Given the description of an element on the screen output the (x, y) to click on. 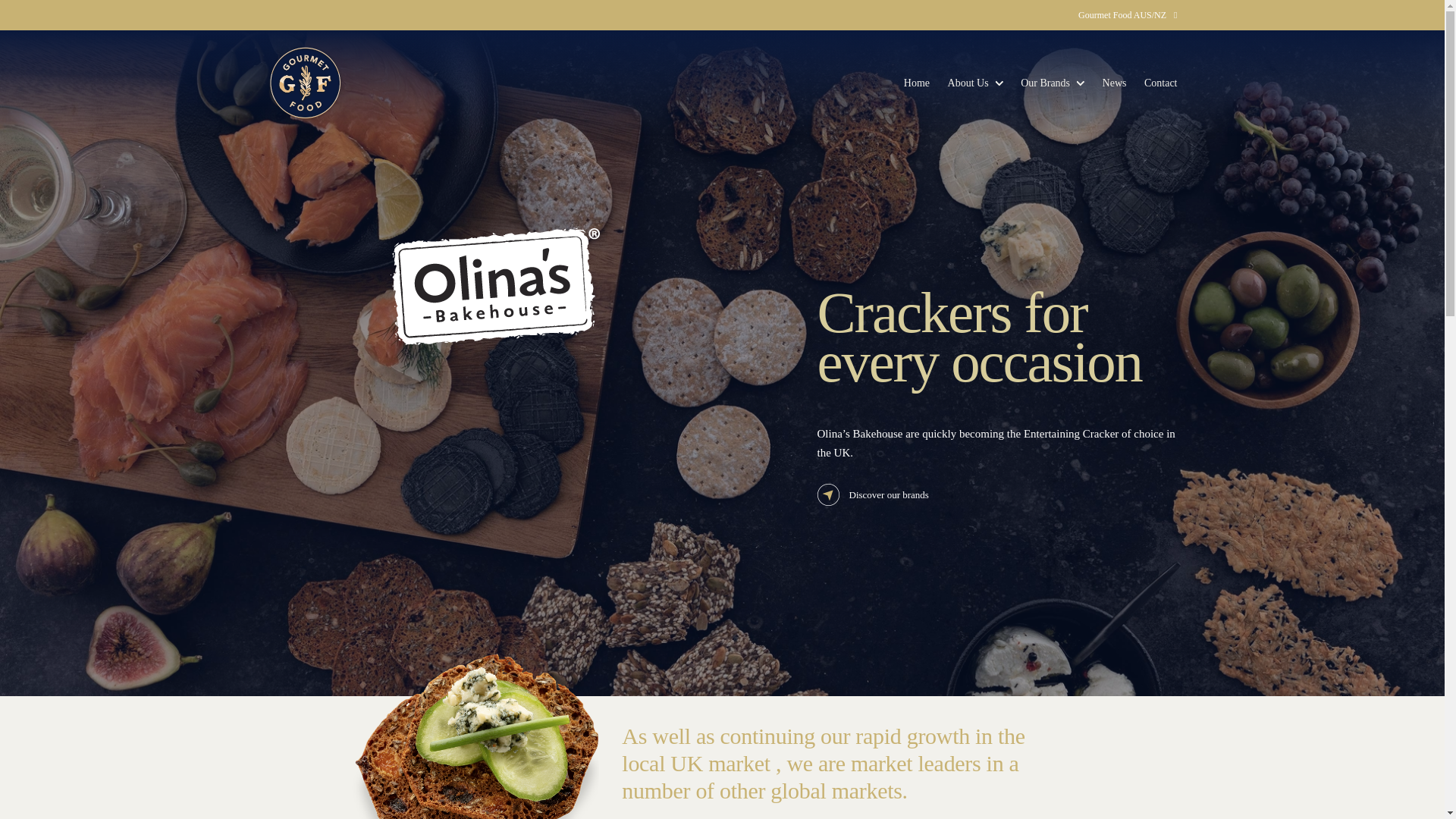
Gourmet Food (304, 82)
Contact (1160, 81)
Our Brands (1045, 81)
Olinas (494, 286)
Discover our brands (996, 495)
homepage-crackers (470, 736)
About Us (967, 81)
GOURMET FOOD (304, 82)
Discover our brands (996, 495)
Home (917, 81)
News (1114, 81)
